Given the description of an element on the screen output the (x, y) to click on. 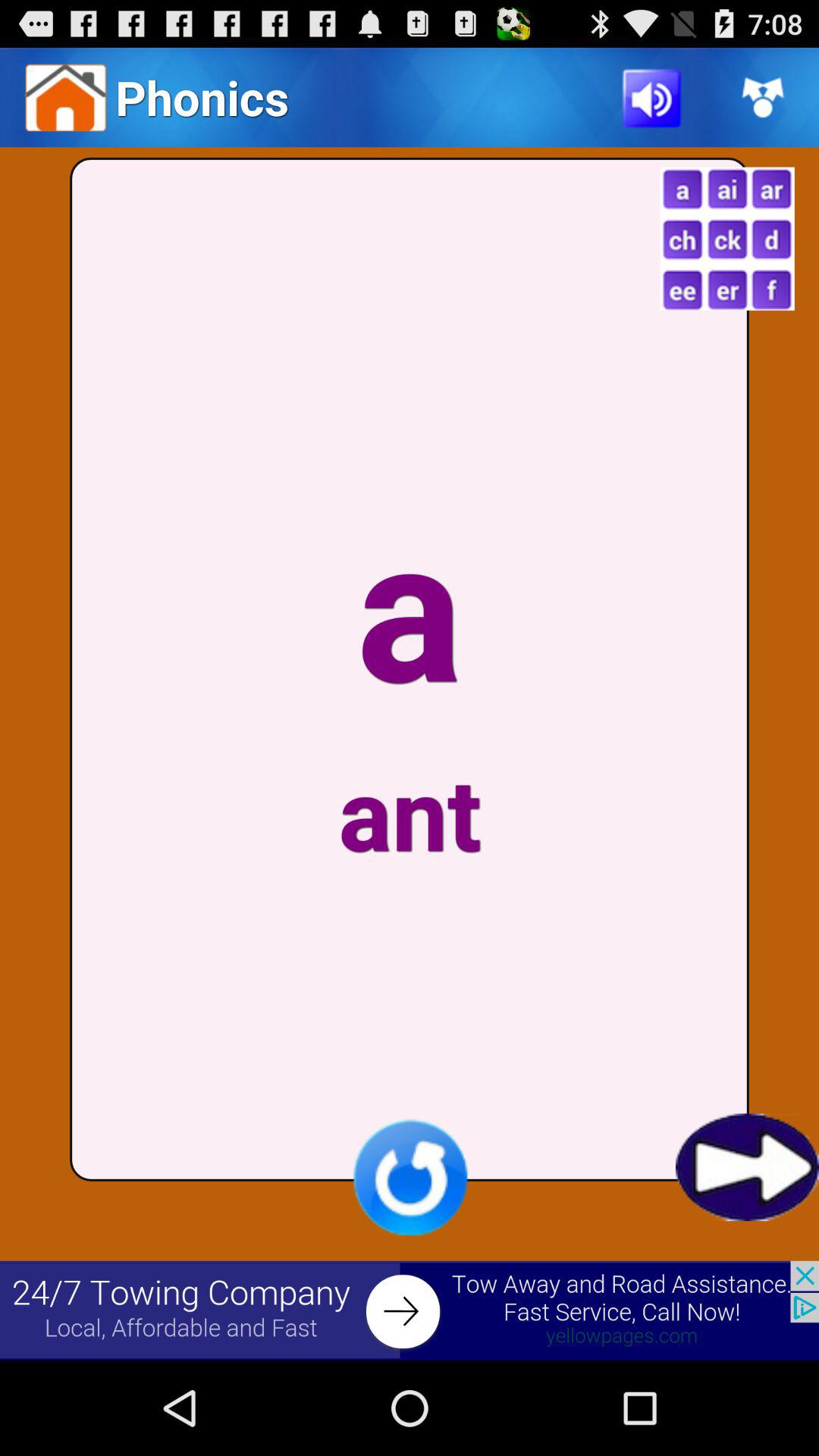
banner advertisement (409, 1310)
